Given the description of an element on the screen output the (x, y) to click on. 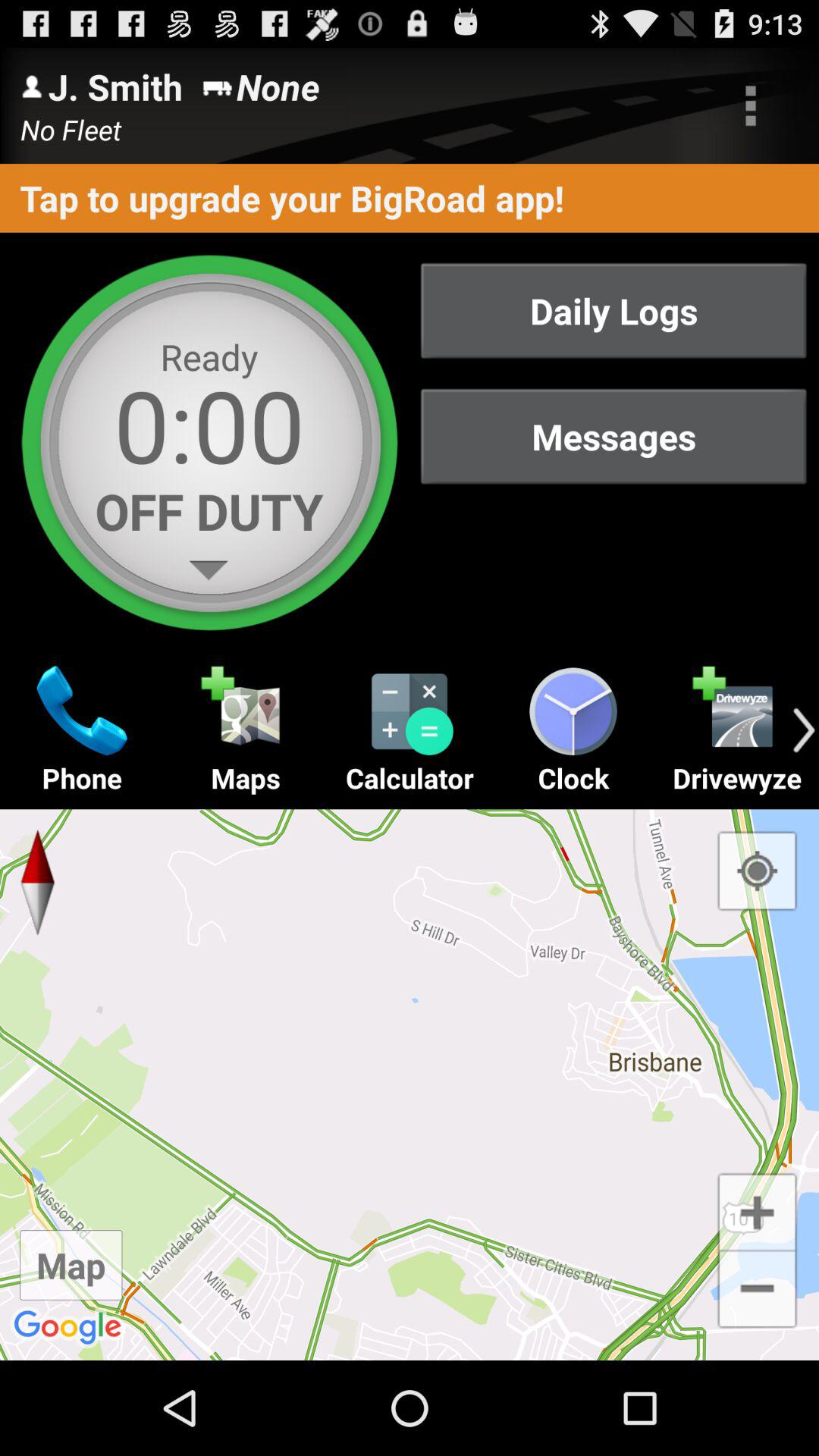
location symbol (757, 870)
